Given the description of an element on the screen output the (x, y) to click on. 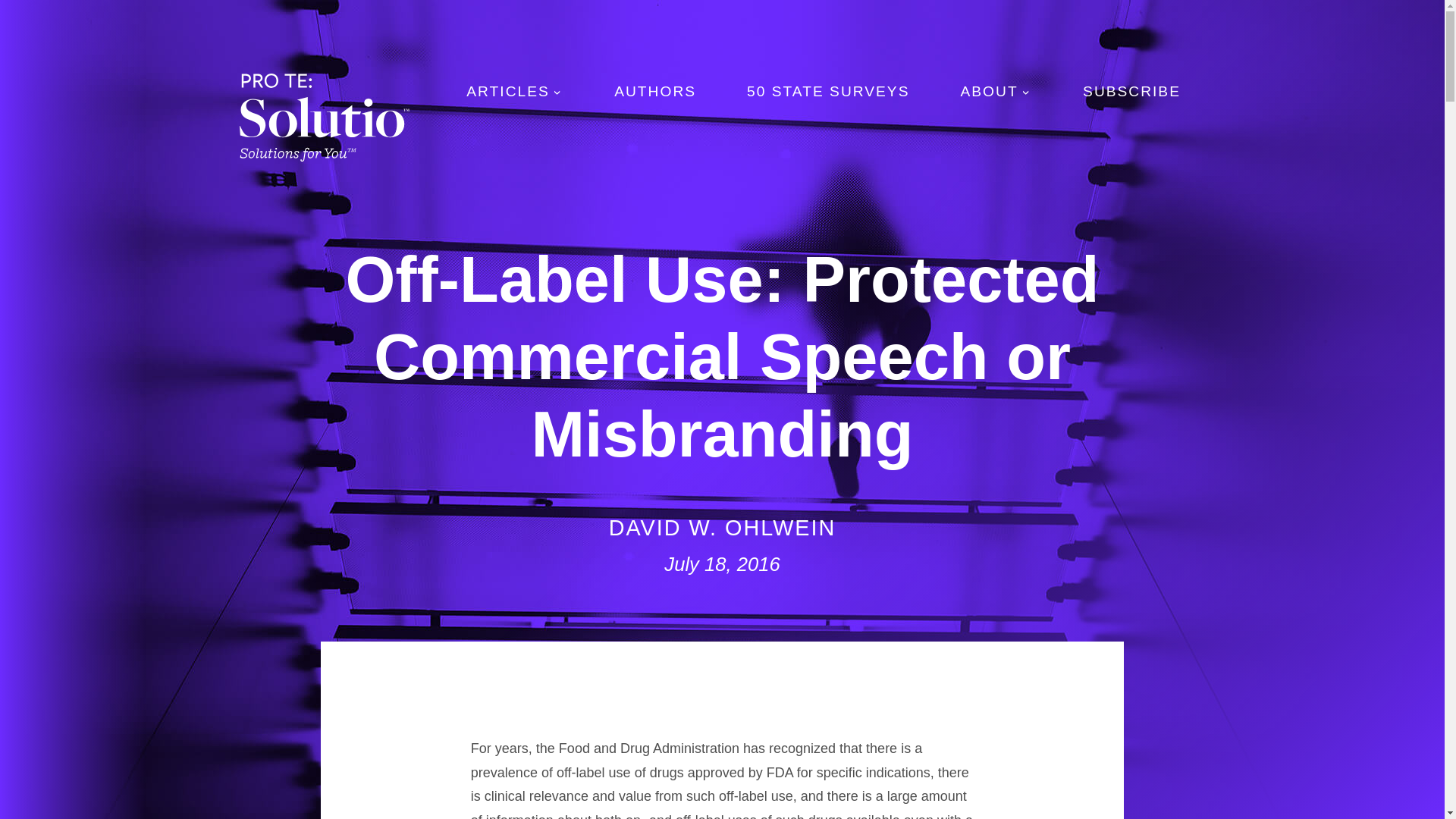
ARTICLES (514, 93)
AUTHORS (654, 91)
DAVID W. OHLWEIN (721, 527)
50 STATE SURVEYS (828, 91)
SUBSCRIBE (1131, 91)
Pro Te: Solutio (323, 114)
ABOUT (997, 93)
